Given the description of an element on the screen output the (x, y) to click on. 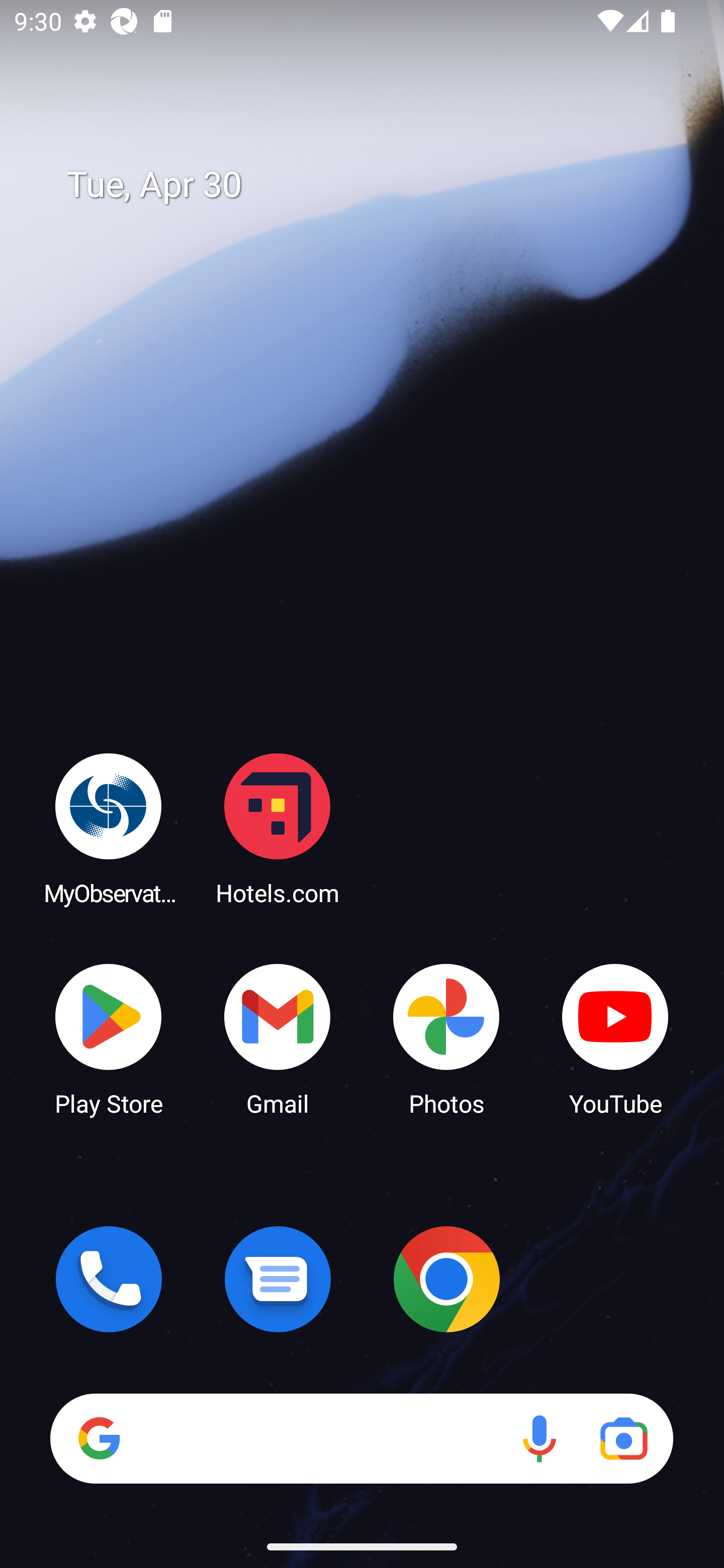
Tue, Apr 30 (375, 184)
MyObservatory (108, 828)
Hotels.com (277, 828)
Play Store (108, 1038)
Gmail (277, 1038)
Photos (445, 1038)
YouTube (615, 1038)
Phone (108, 1279)
Messages (277, 1279)
Chrome (446, 1279)
Voice search (539, 1438)
Google Lens (623, 1438)
